Given the description of an element on the screen output the (x, y) to click on. 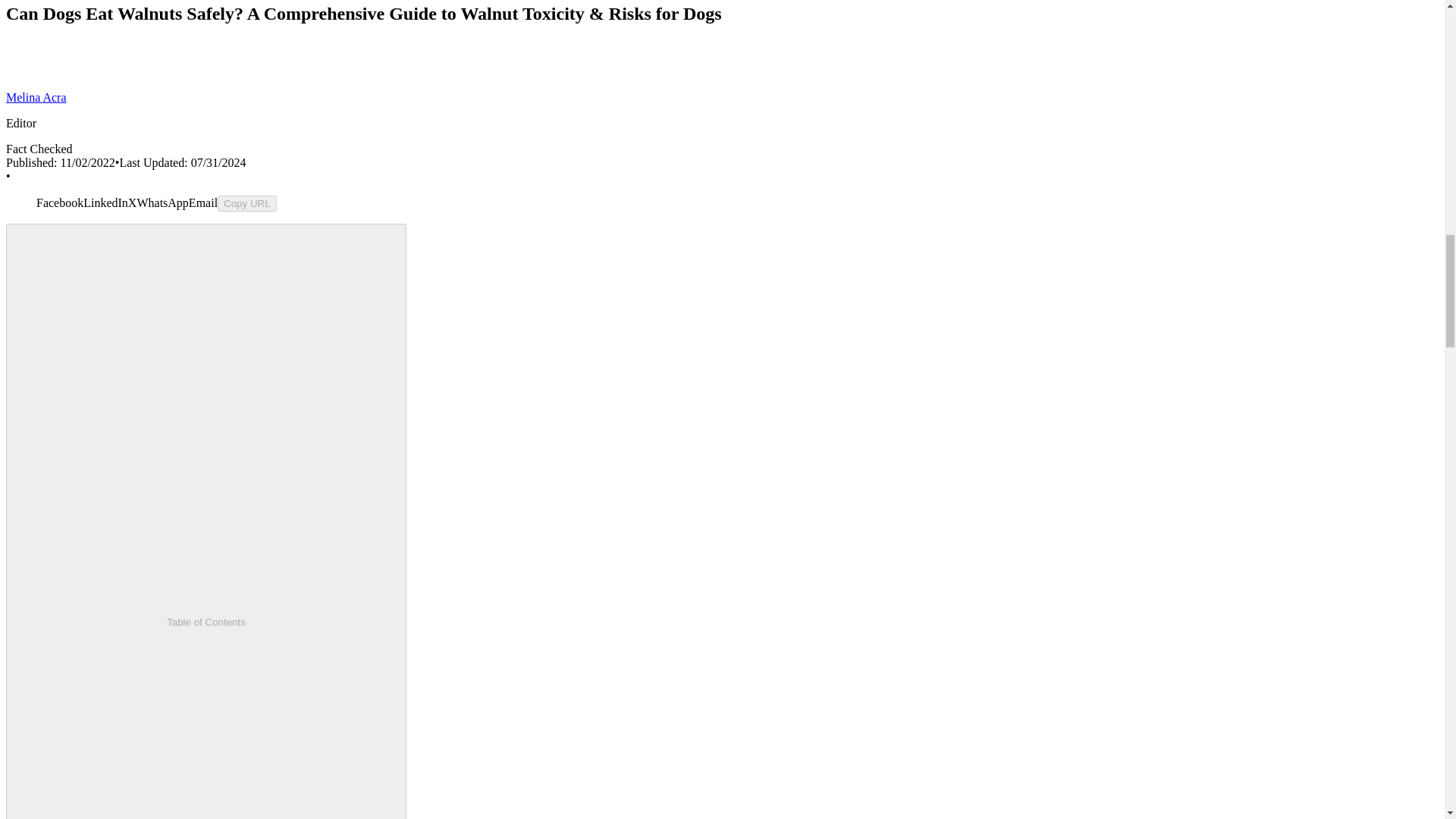
Copy URL (246, 203)
WhatsApp (161, 202)
Facebook (59, 202)
Copy URL (246, 203)
Melina Acra (35, 97)
LinkedIn (105, 202)
Email (202, 202)
